Given the description of an element on the screen output the (x, y) to click on. 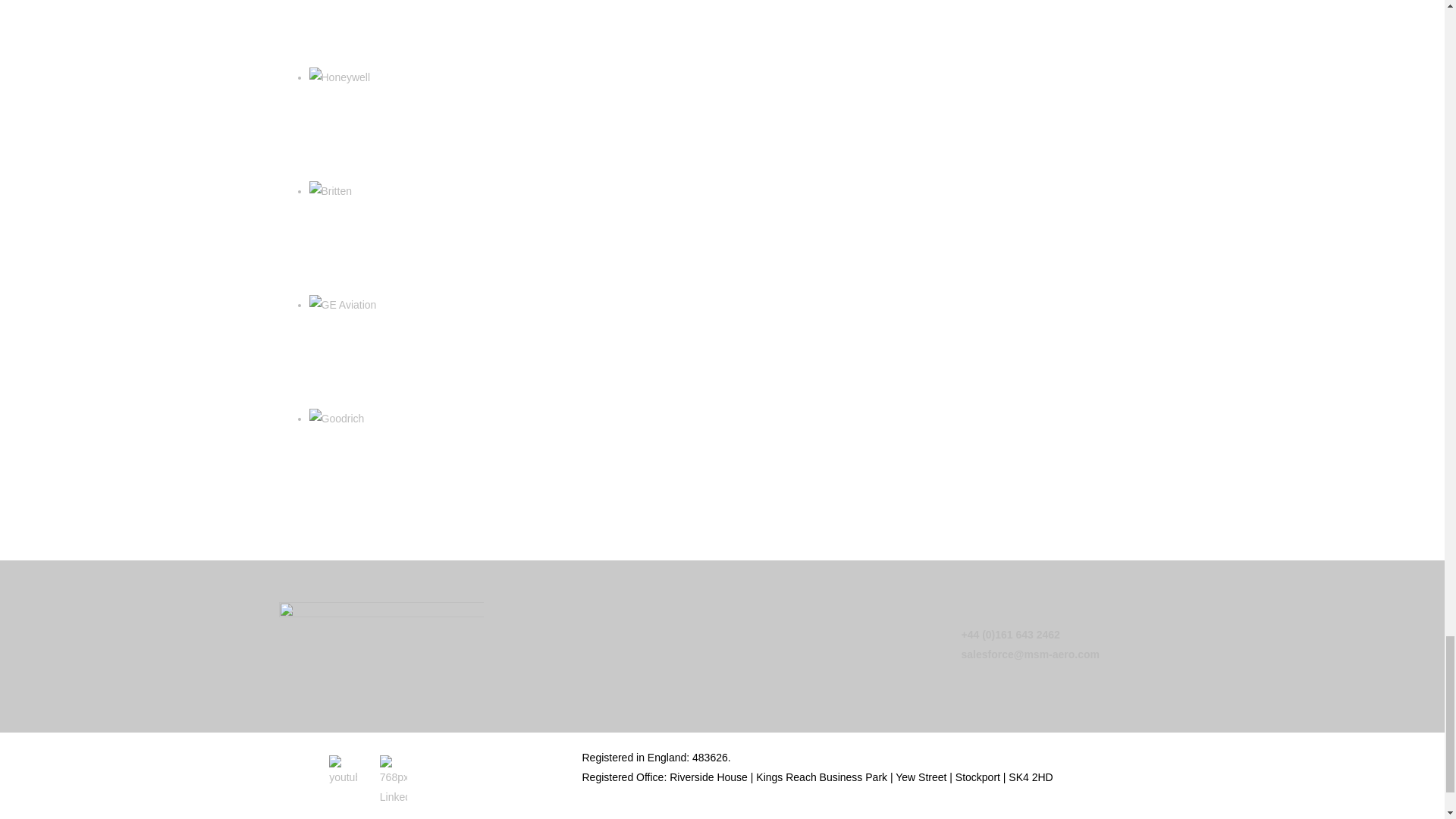
GE Aviation (342, 304)
Britten (330, 190)
Goodrich (336, 418)
Honeywell (339, 76)
